Given the description of an element on the screen output the (x, y) to click on. 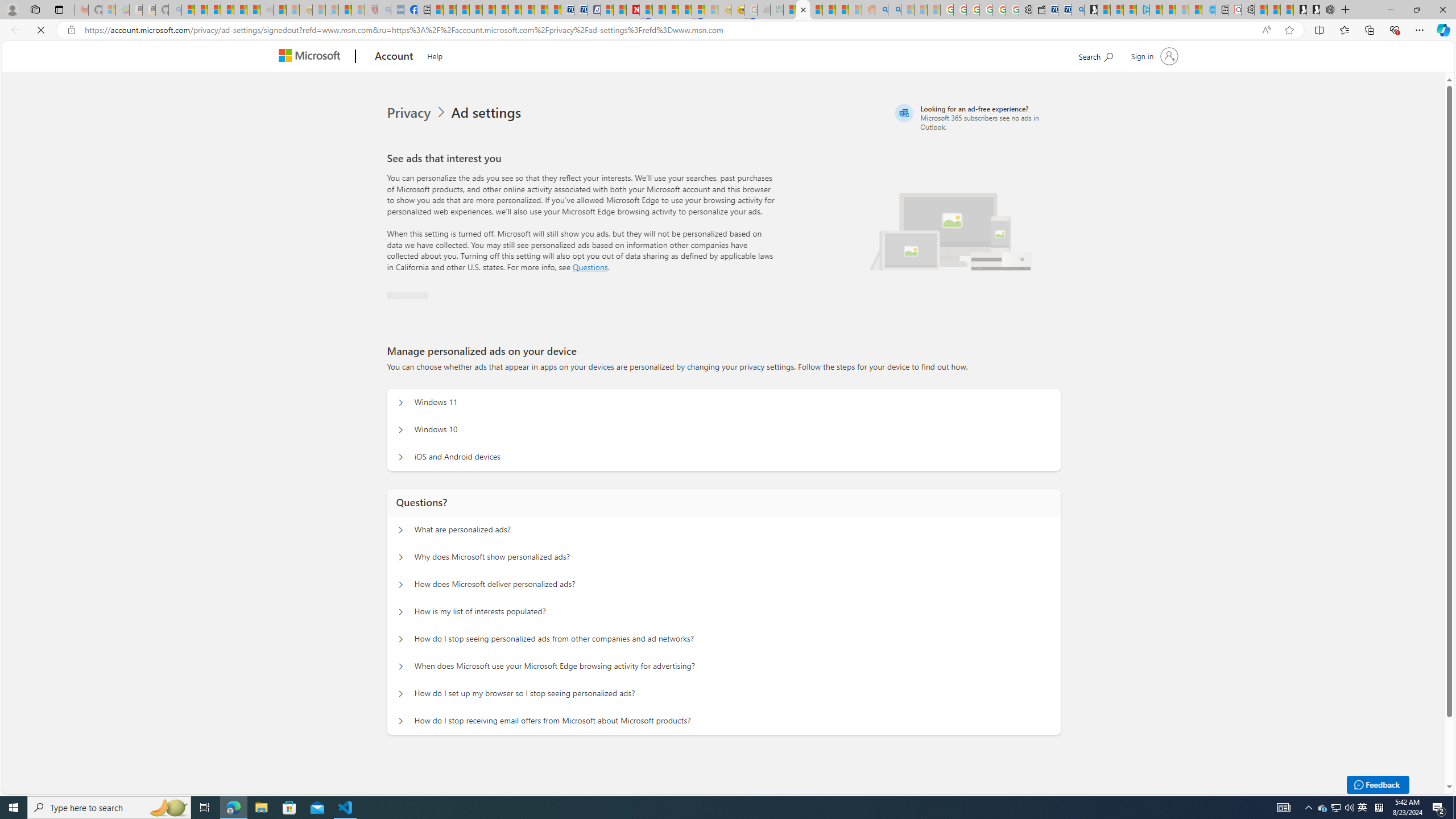
Latest Politics News & Archive | Newsweek.com (633, 9)
Combat Siege - Sleeping (266, 9)
